Given the description of an element on the screen output the (x, y) to click on. 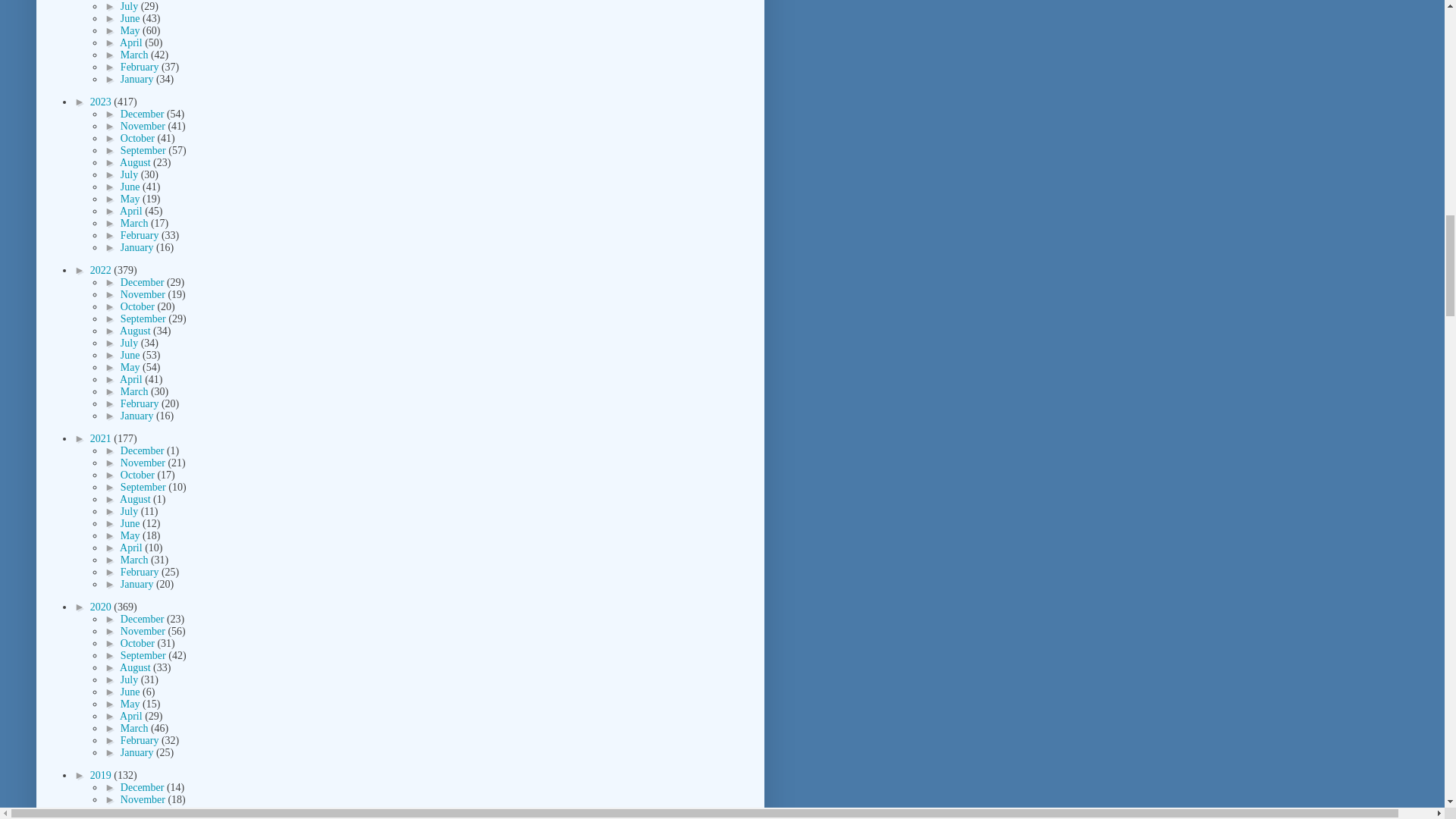
February (140, 66)
May (131, 30)
July (130, 6)
January (137, 79)
March (135, 54)
2023 (102, 101)
April (131, 42)
June (131, 18)
